Given the description of an element on the screen output the (x, y) to click on. 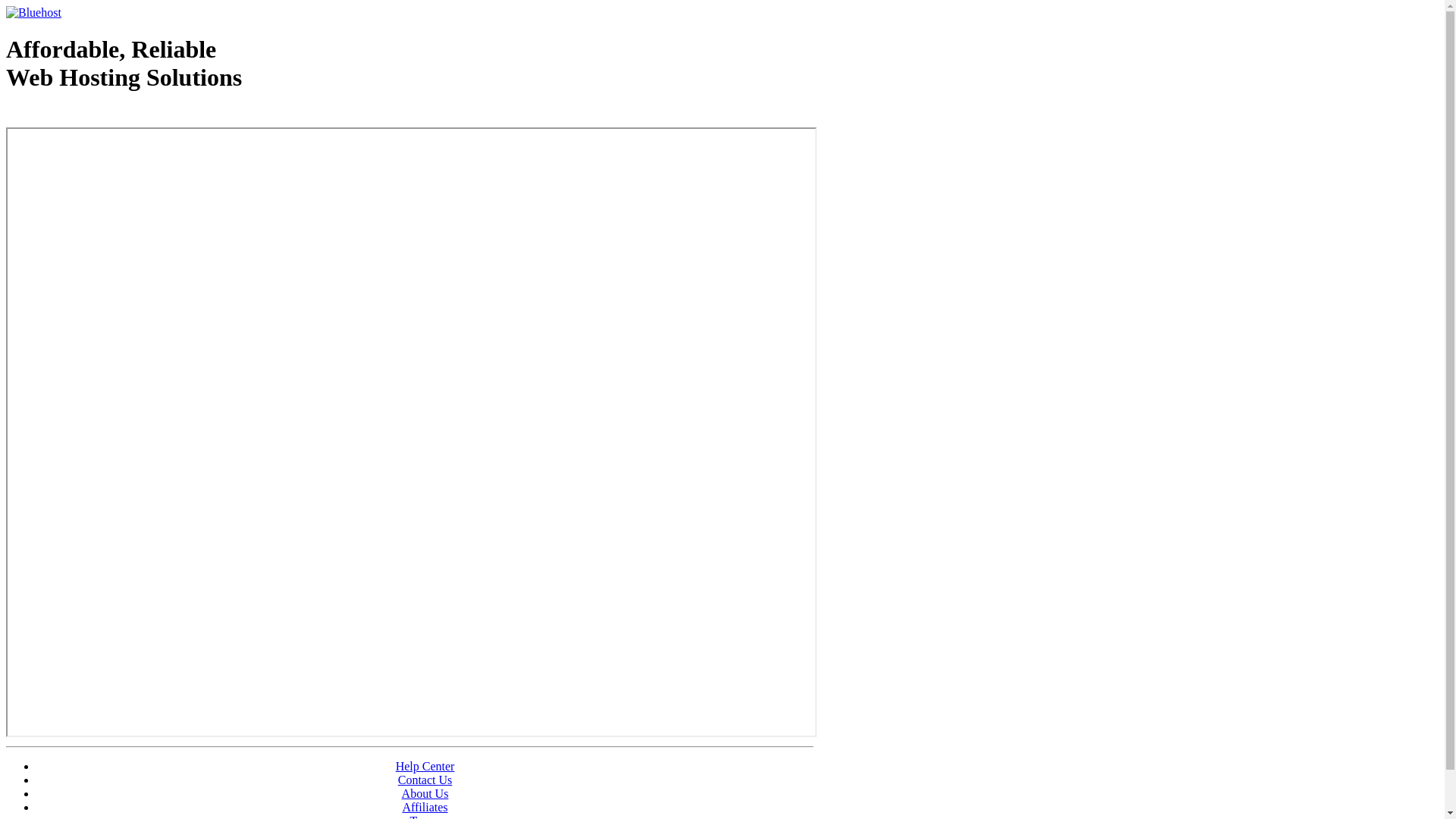
Contact Us Element type: text (425, 779)
Web Hosting - courtesy of www.bluehost.com Element type: text (94, 115)
Help Center Element type: text (425, 765)
About Us Element type: text (424, 793)
Affiliates Element type: text (424, 806)
